Given the description of an element on the screen output the (x, y) to click on. 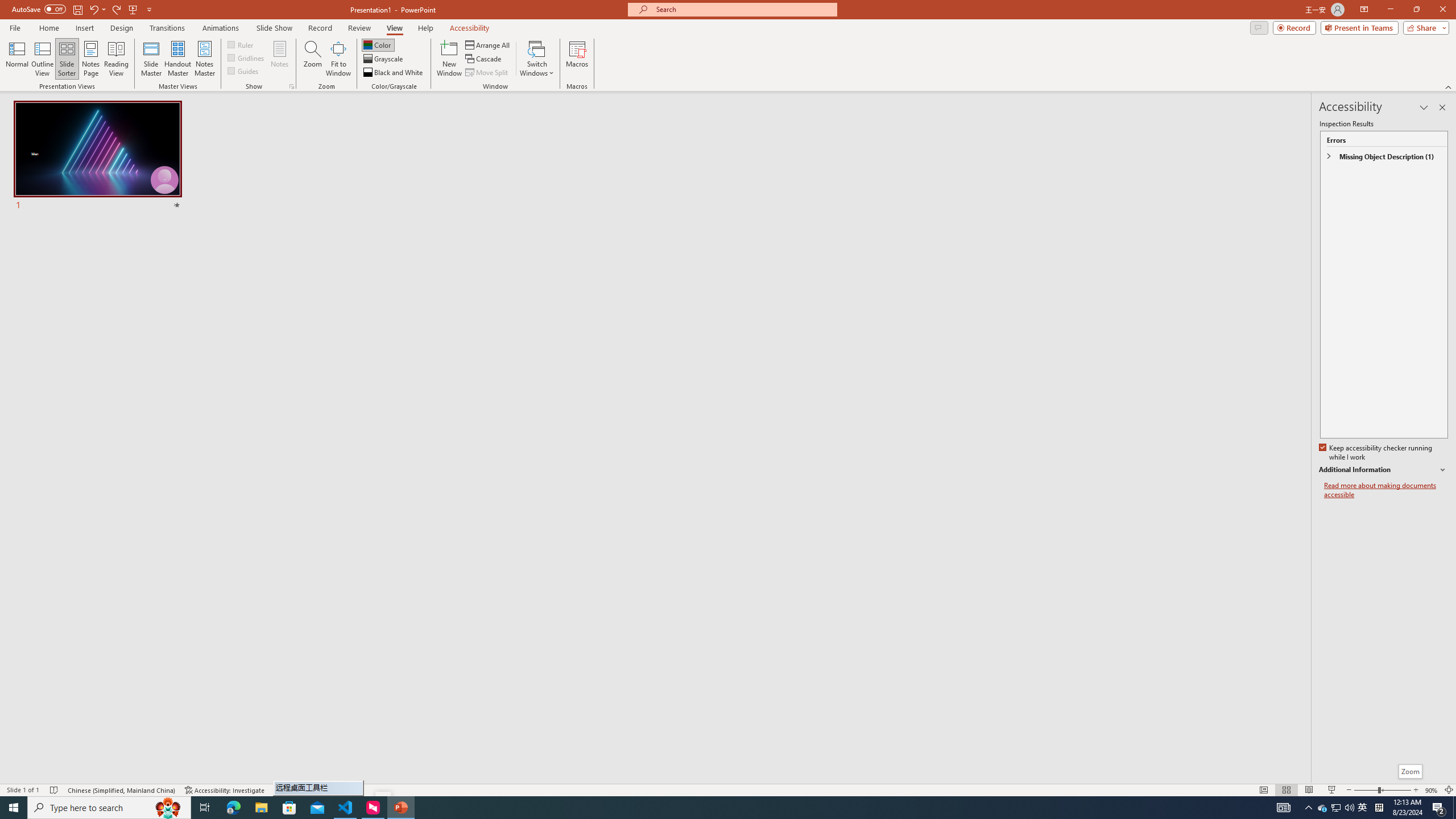
Cascade (484, 58)
Handout Master (177, 58)
Slide Master (151, 58)
Zoom... (312, 58)
New Window (449, 58)
Ruler (241, 44)
